Given the description of an element on the screen output the (x, y) to click on. 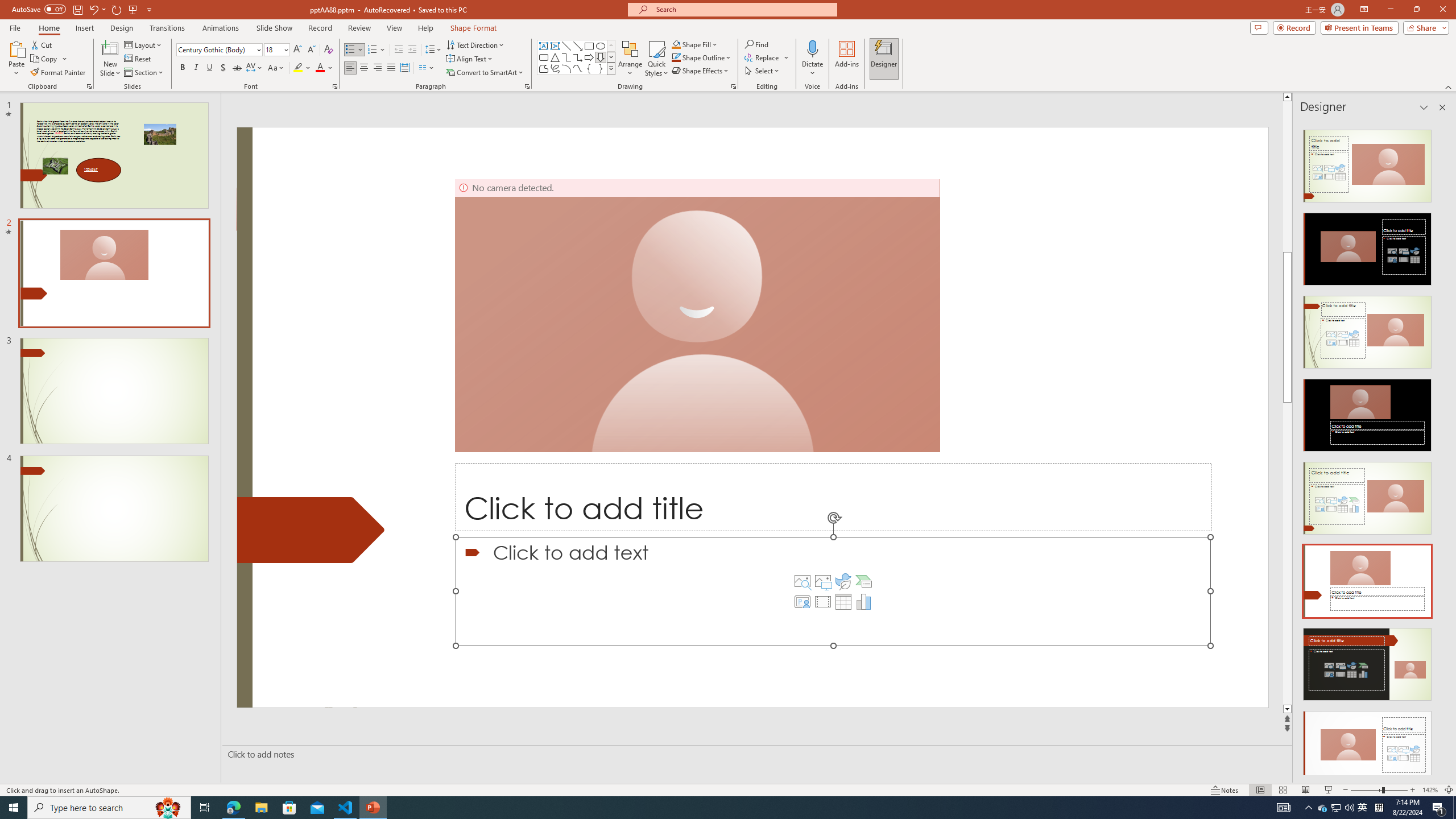
Select (762, 69)
Section (144, 72)
System (6, 6)
Record (320, 28)
Text Direction (476, 44)
Animations (220, 28)
Arrow: Down (600, 57)
Insert Chart (863, 601)
Strikethrough (237, 67)
Numbering (372, 49)
New Slide (110, 58)
Line Spacing (433, 49)
Text Highlight Color (302, 67)
Bullets (349, 49)
Present in Teams (1359, 27)
